Given the description of an element on the screen output the (x, y) to click on. 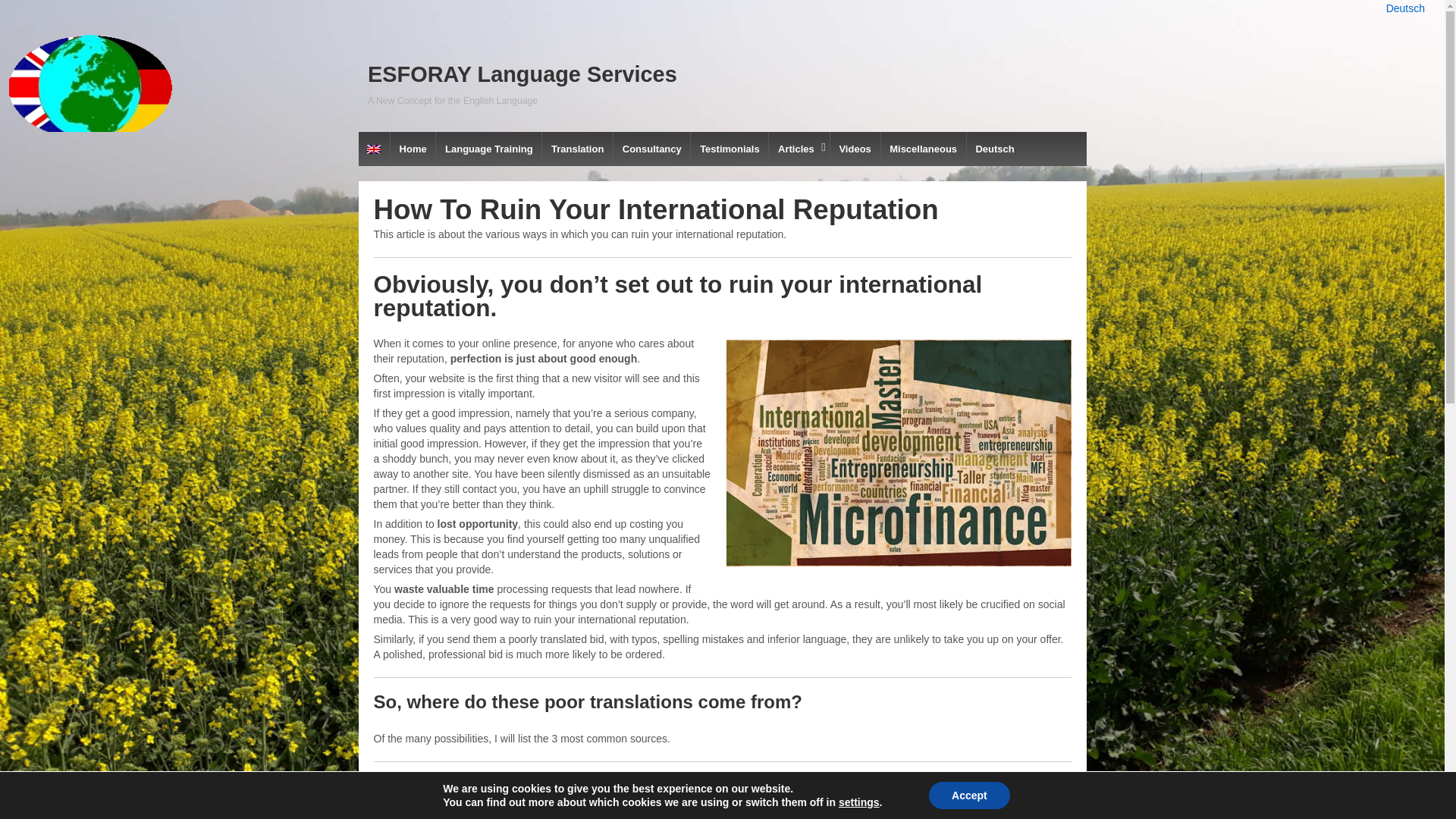
Deutsch (994, 148)
Translation (576, 148)
Articles (798, 148)
ESFORAY Language Services (522, 74)
Language Training (488, 148)
Deutsch (1405, 8)
settings (858, 802)
Consultancy (651, 148)
Home (412, 148)
Testimonials (729, 148)
